Given the description of an element on the screen output the (x, y) to click on. 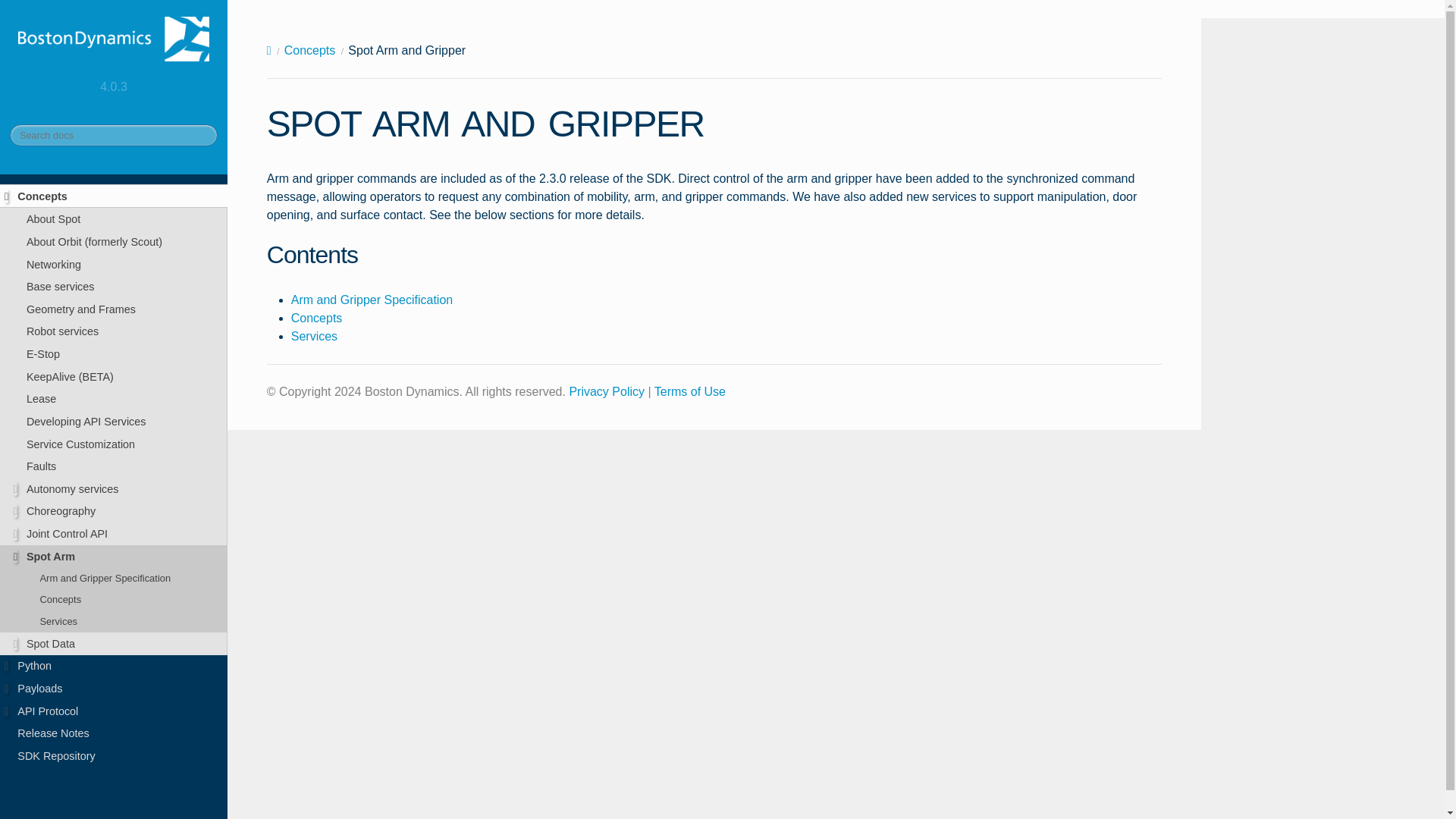
Concepts (113, 196)
Developing API Services (113, 421)
Autonomy services (113, 488)
Robot services (113, 332)
Lease (113, 398)
E-Stop (113, 354)
Base services (113, 286)
About Spot (113, 219)
Geometry and Frames (113, 309)
Service Customization (113, 444)
